Given the description of an element on the screen output the (x, y) to click on. 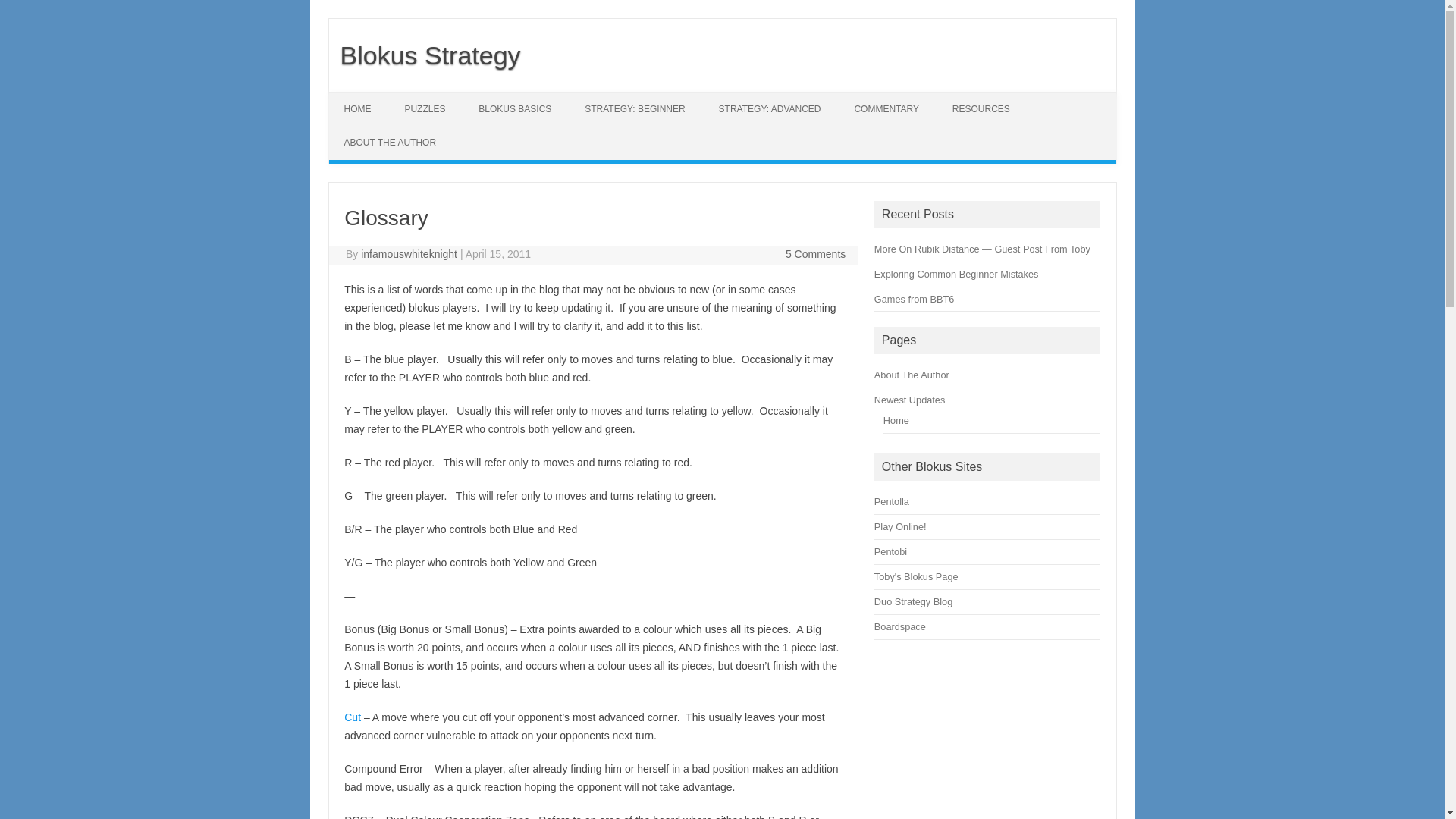
Home (895, 419)
Blokus Strategy (425, 54)
Skip to content (363, 96)
BLOKUS BASICS (514, 109)
COMMENTARY (886, 109)
Cut or Kiss (352, 717)
Pentobi (891, 551)
Exploring Common Beginner Mistakes (957, 274)
Play Blokus Online (891, 501)
Newest Updates (909, 399)
